Given the description of an element on the screen output the (x, y) to click on. 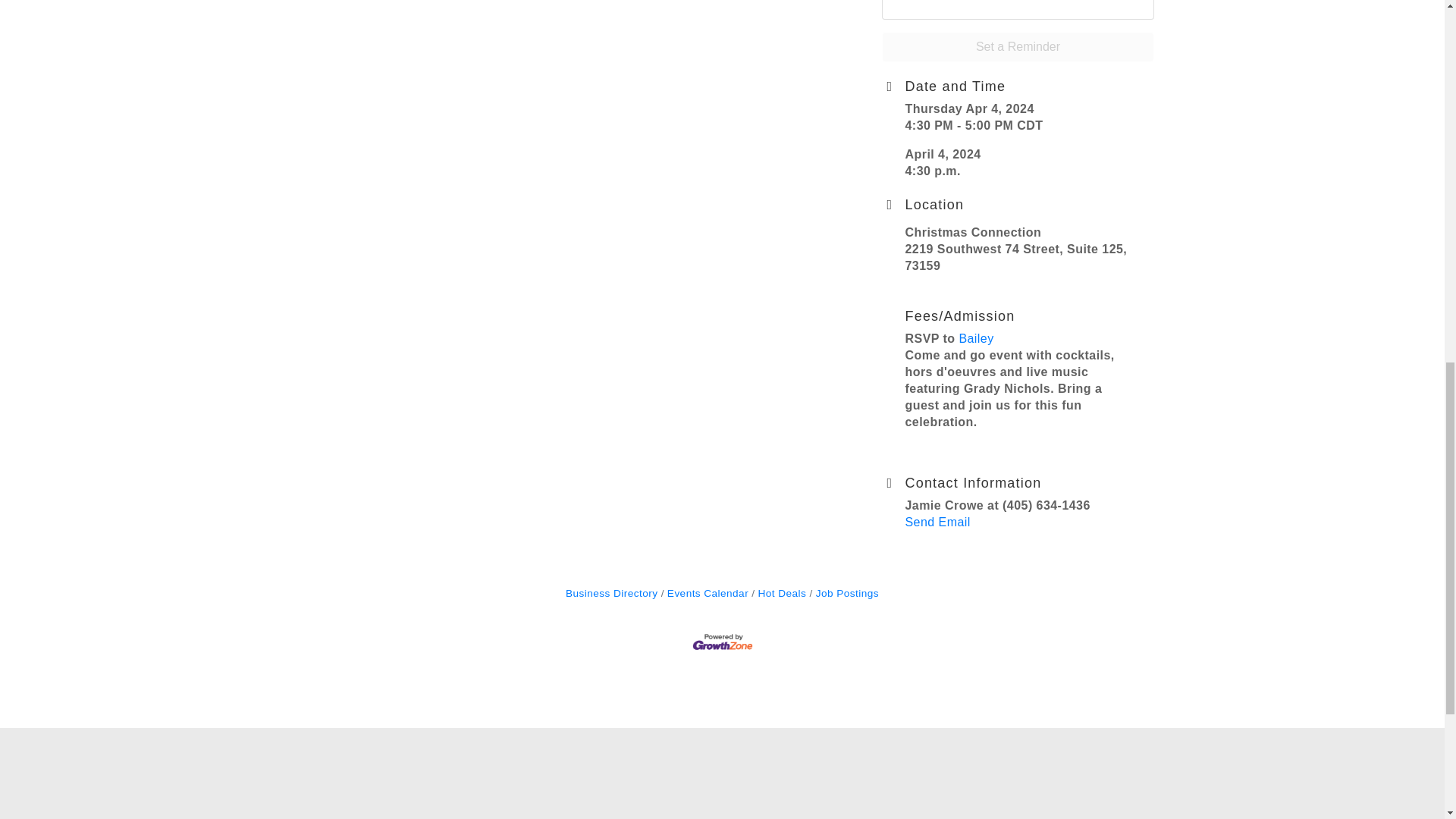
Bailey (975, 338)
Set a Reminder (1018, 46)
Events Calendar (704, 593)
Business Directory (612, 593)
Send Email (938, 521)
